Given the description of an element on the screen output the (x, y) to click on. 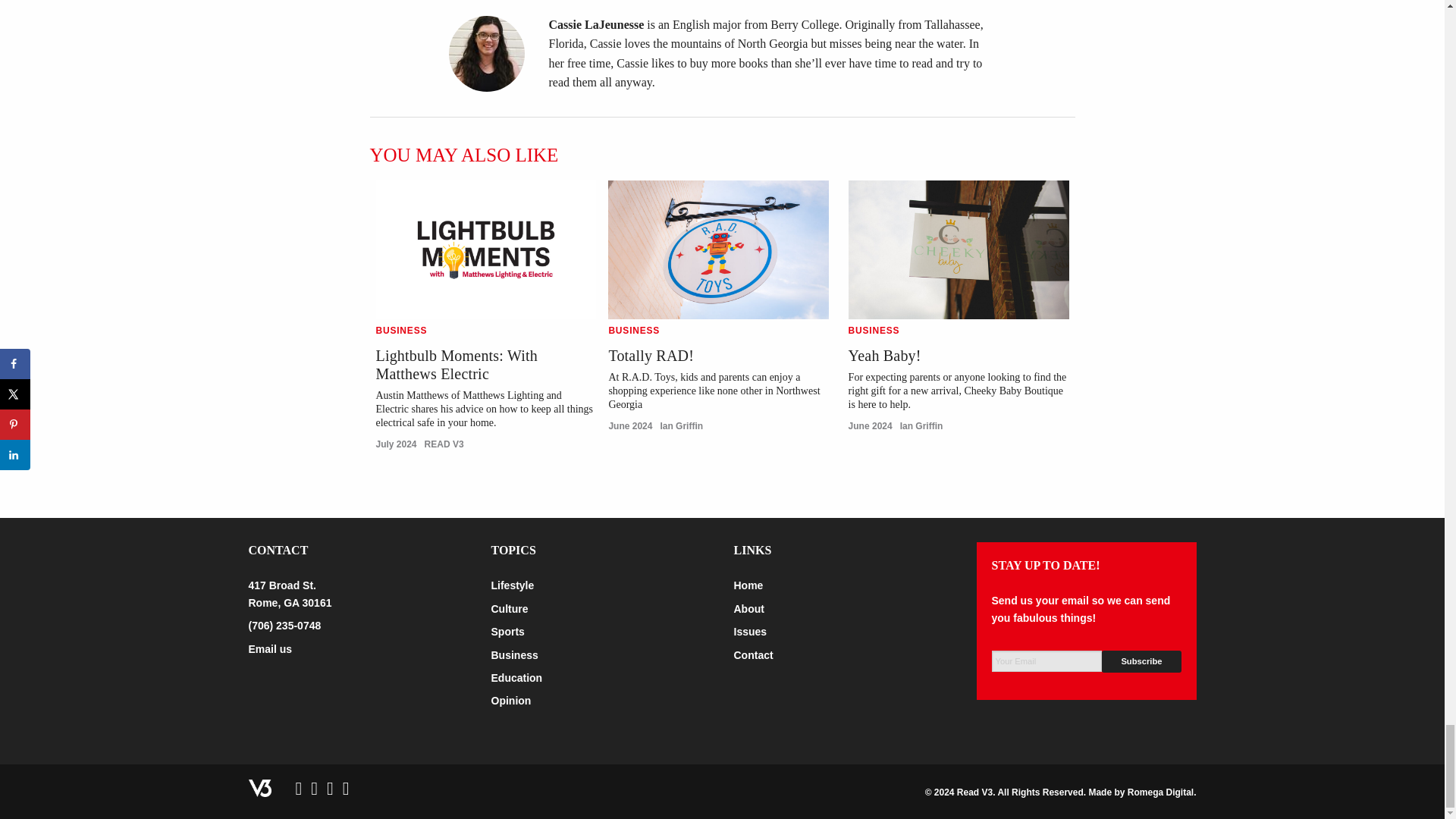
Posts by Cassie LaJeunesse (596, 24)
Subscribe (1141, 661)
